Given the description of an element on the screen output the (x, y) to click on. 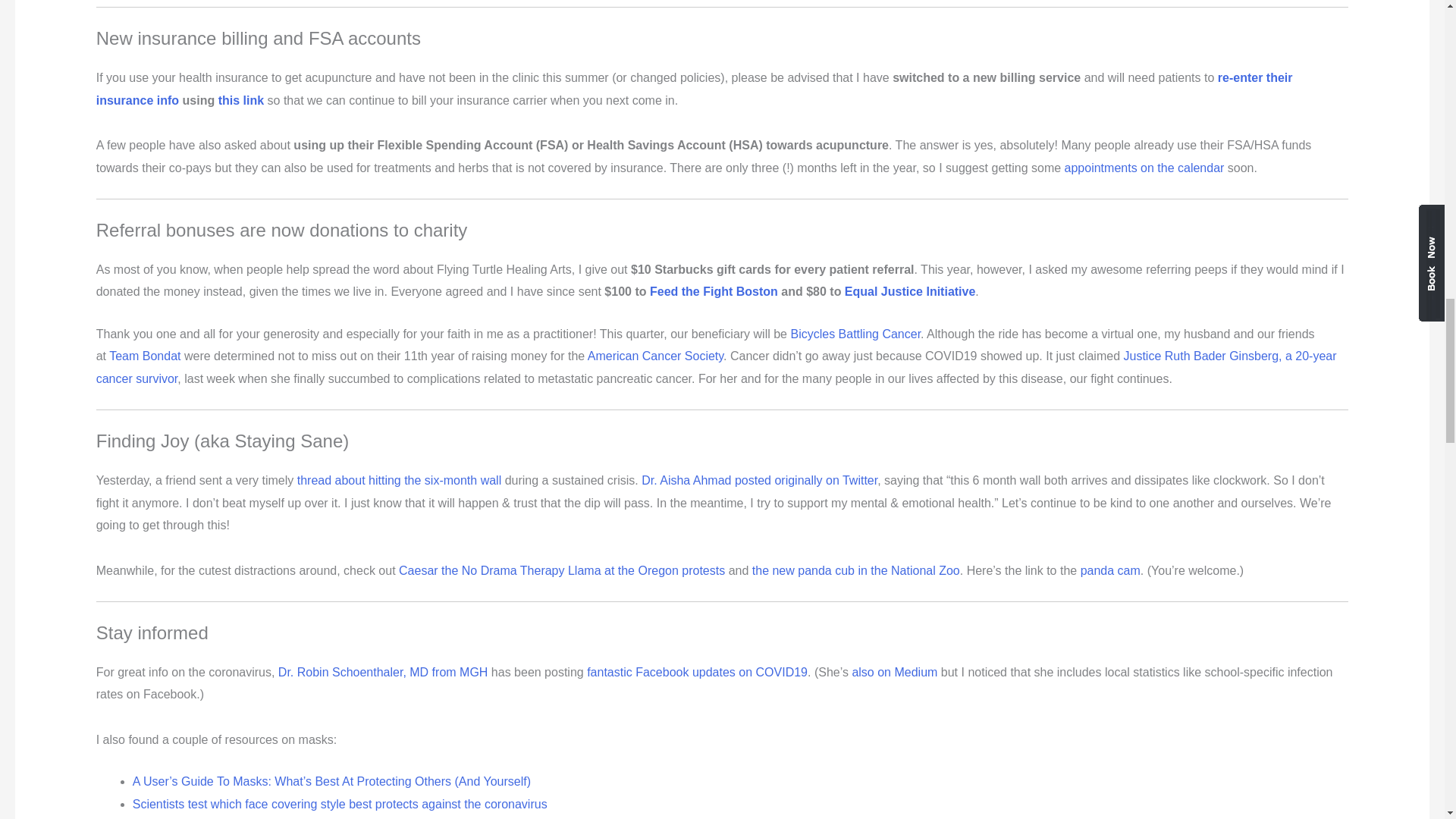
this link (240, 100)
Equal Justice Initiative (909, 291)
Justice Ruth Bader Ginsberg, a 20-year cancer survivor (716, 366)
re-enter their insurance info (694, 89)
American Cancer Society (655, 355)
appointments on the calendar (1144, 167)
Feed the Fight Boston (713, 291)
Dr. Aisha Ahmad posted originally on Twitter (759, 480)
Team Bondat (144, 355)
Bicycles Battling Cancer (855, 333)
